Given the description of an element on the screen output the (x, y) to click on. 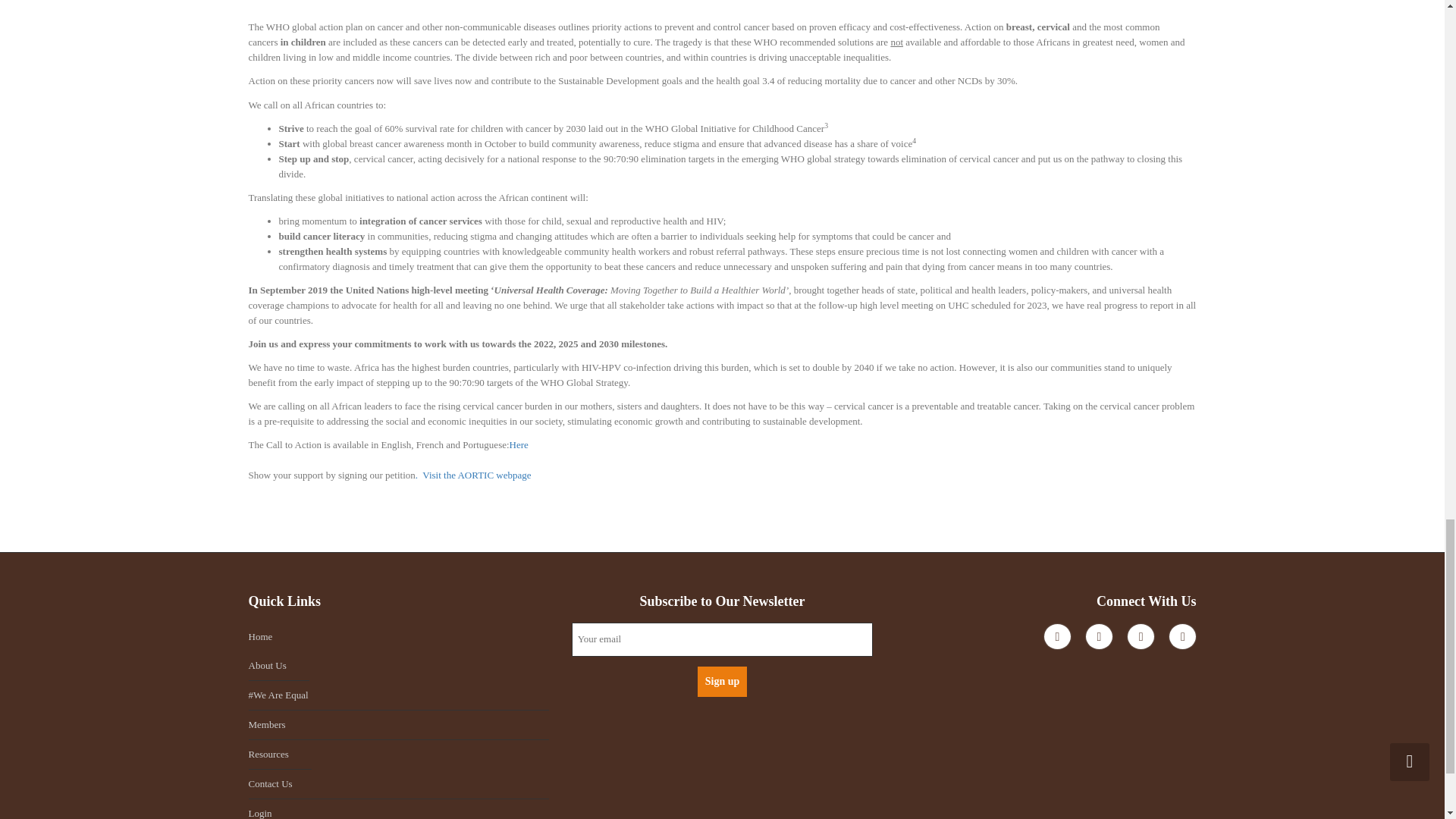
Sign up (722, 681)
Here (518, 444)
About Us (278, 665)
Visit the AORTIC webpage (476, 474)
Home (399, 636)
